Given the description of an element on the screen output the (x, y) to click on. 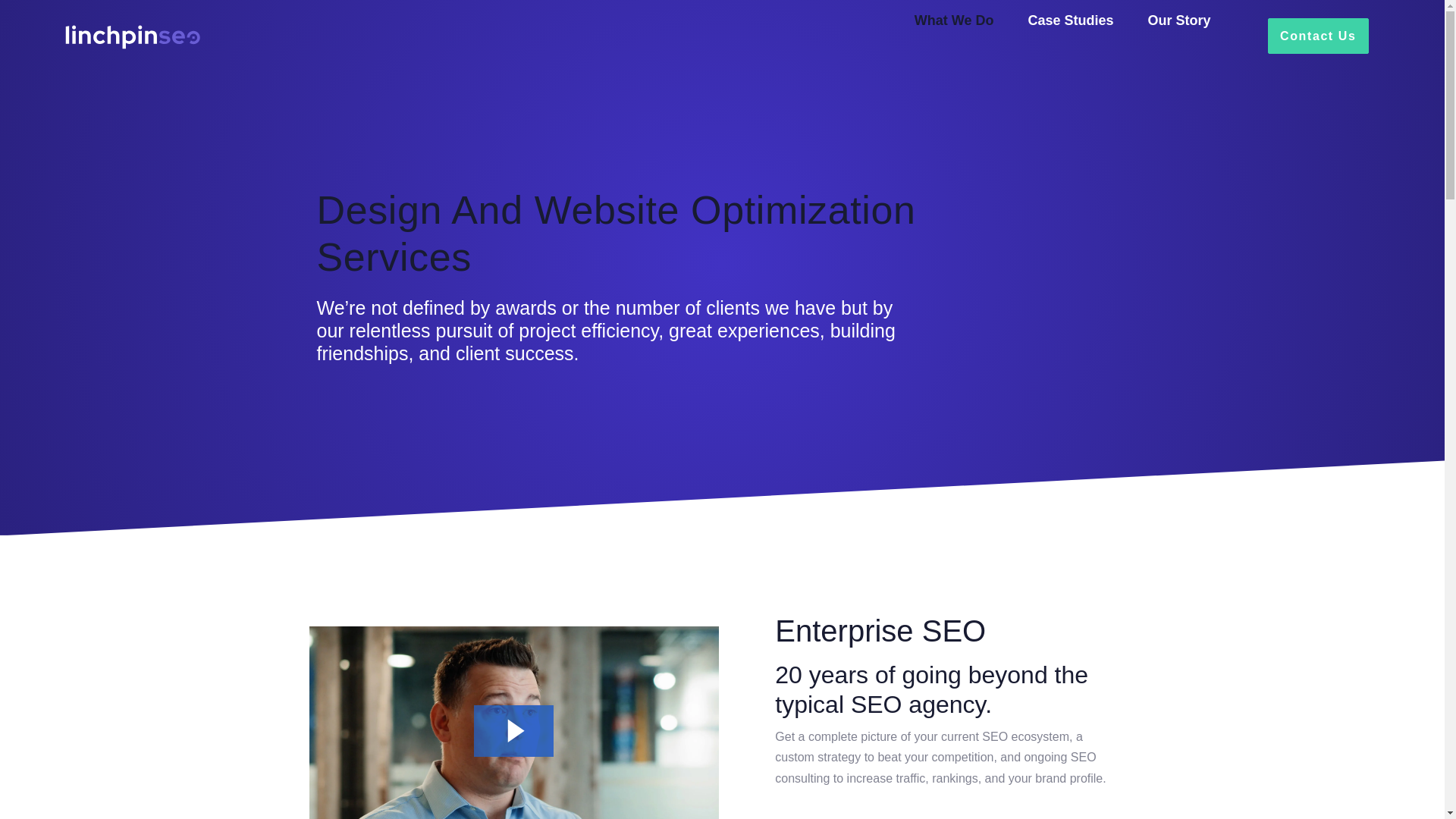
What We Do (948, 20)
Contact (1318, 36)
Contact Us (1318, 36)
Our Story (1174, 20)
Case Studies (1064, 20)
